Given the description of an element on the screen output the (x, y) to click on. 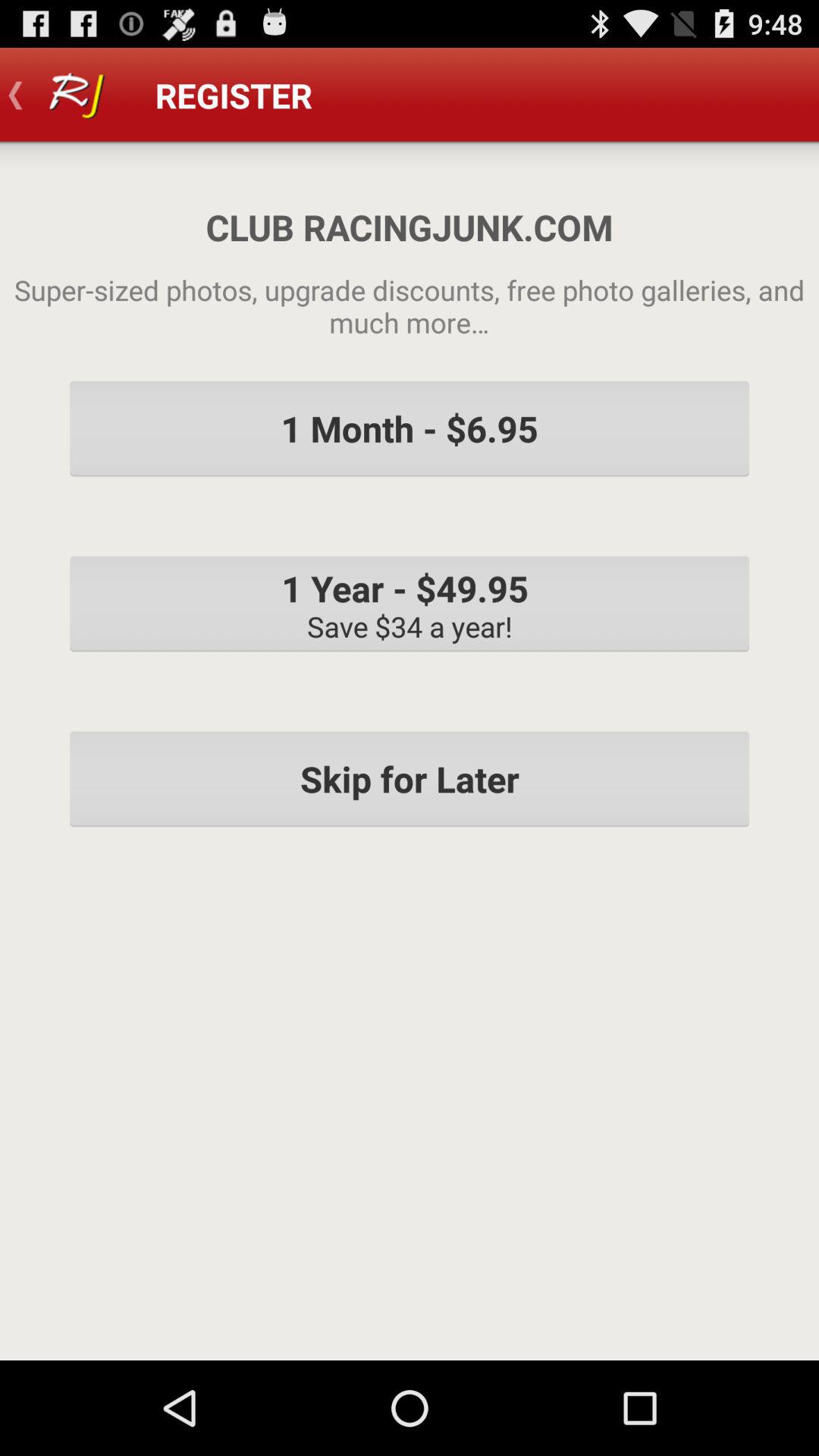
press 1 month 6 item (409, 428)
